Given the description of an element on the screen output the (x, y) to click on. 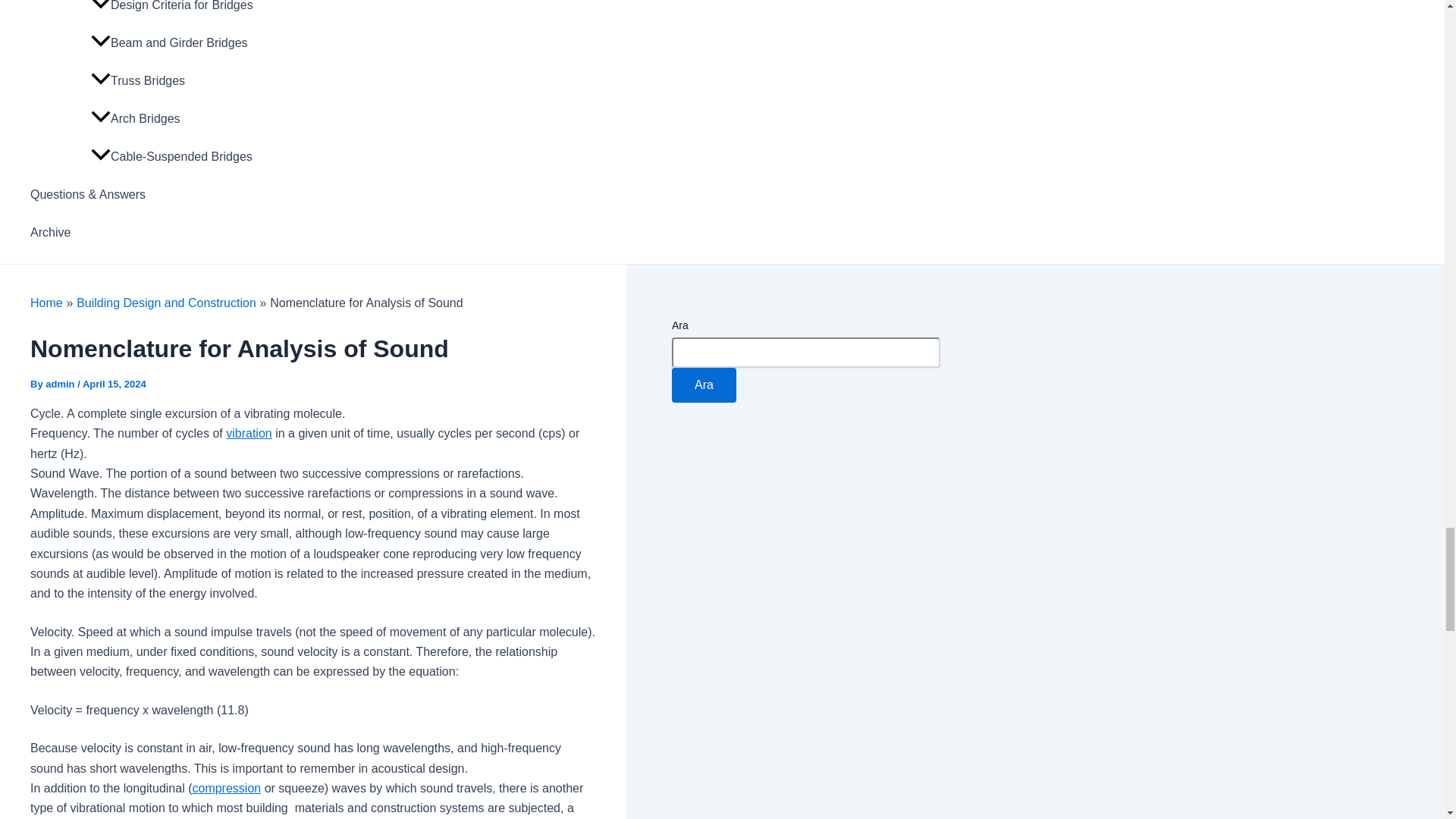
View all posts by admin (61, 383)
vibration (247, 432)
compression (226, 788)
